Given the description of an element on the screen output the (x, y) to click on. 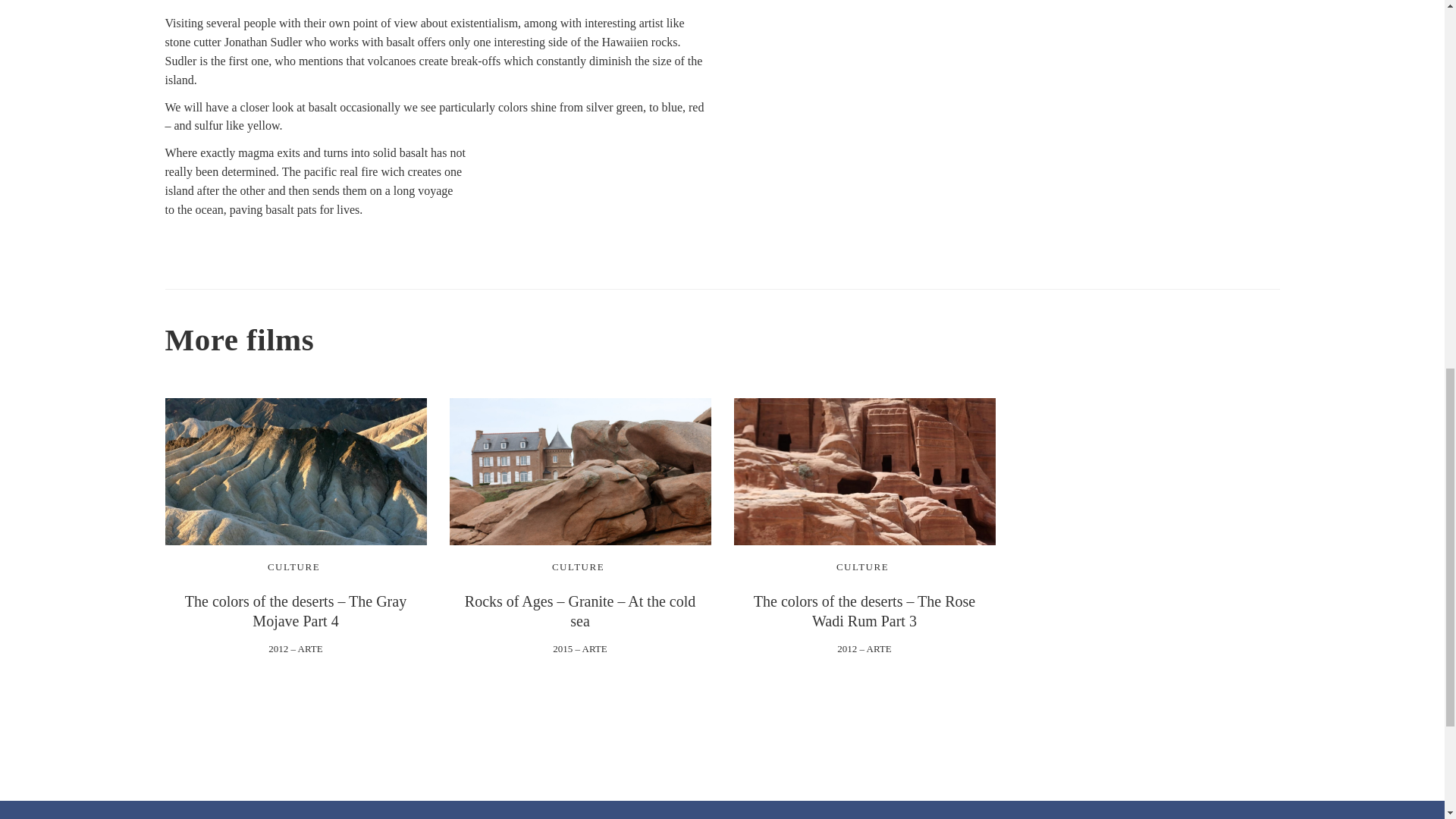
CULTURE (577, 566)
CULTURE (861, 566)
CULTURE (293, 566)
